Given the description of an element on the screen output the (x, y) to click on. 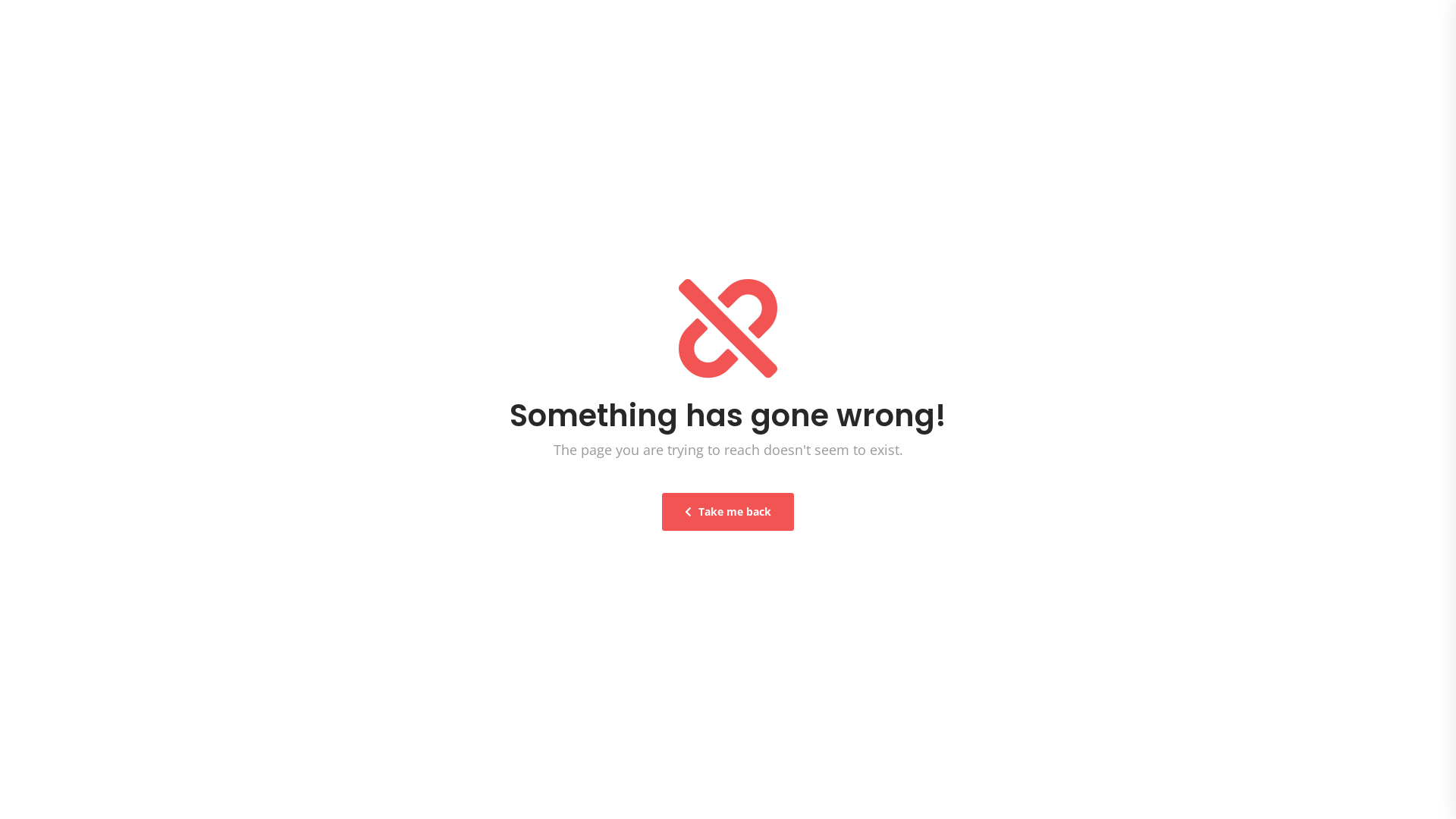
Take me back Element type: text (727, 511)
